Given the description of an element on the screen output the (x, y) to click on. 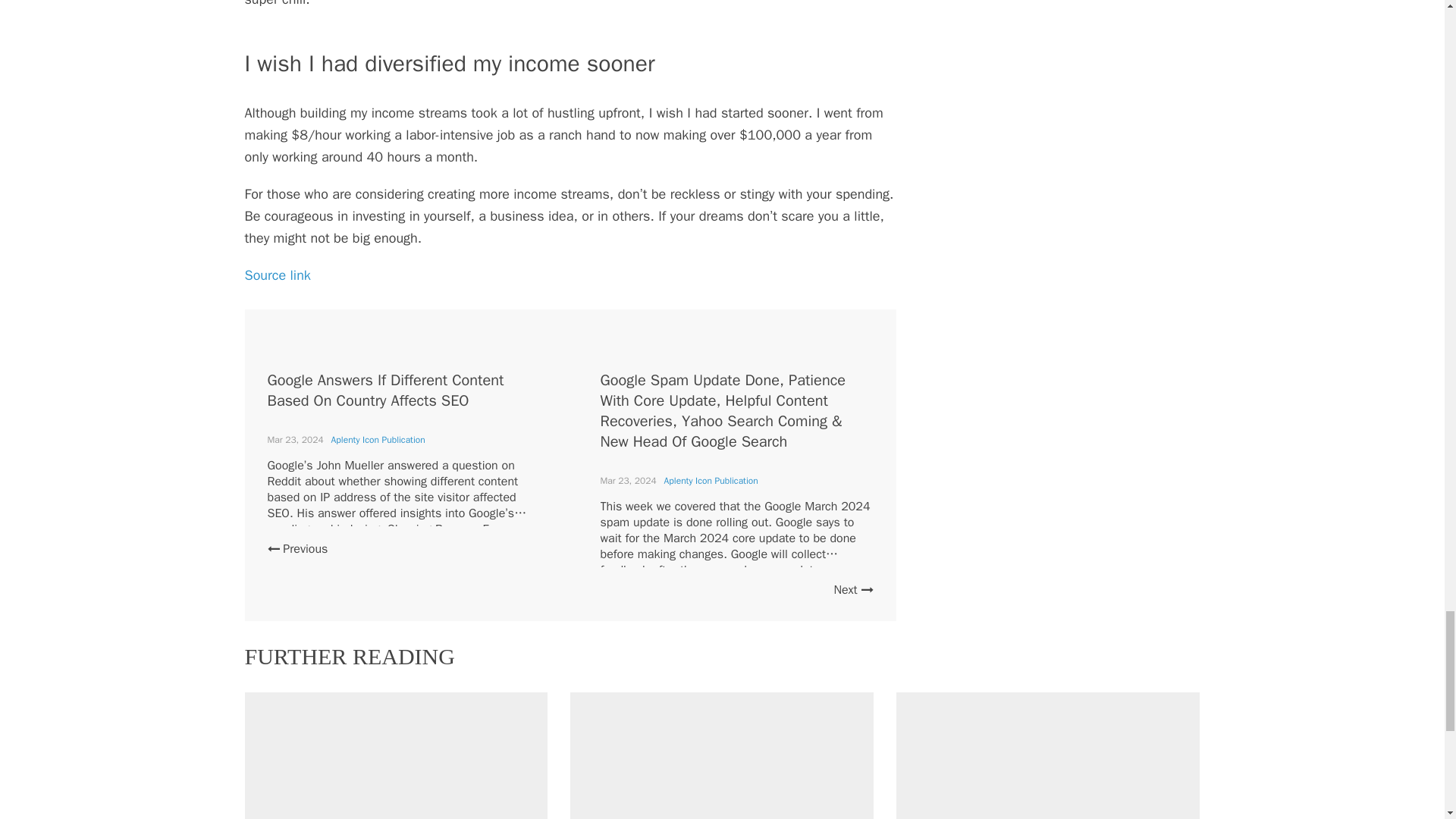
Source link (277, 274)
Aplenty Icon Publication (710, 480)
Aplenty Icon Publication (378, 439)
Next (852, 589)
Previous (296, 548)
